Given the description of an element on the screen output the (x, y) to click on. 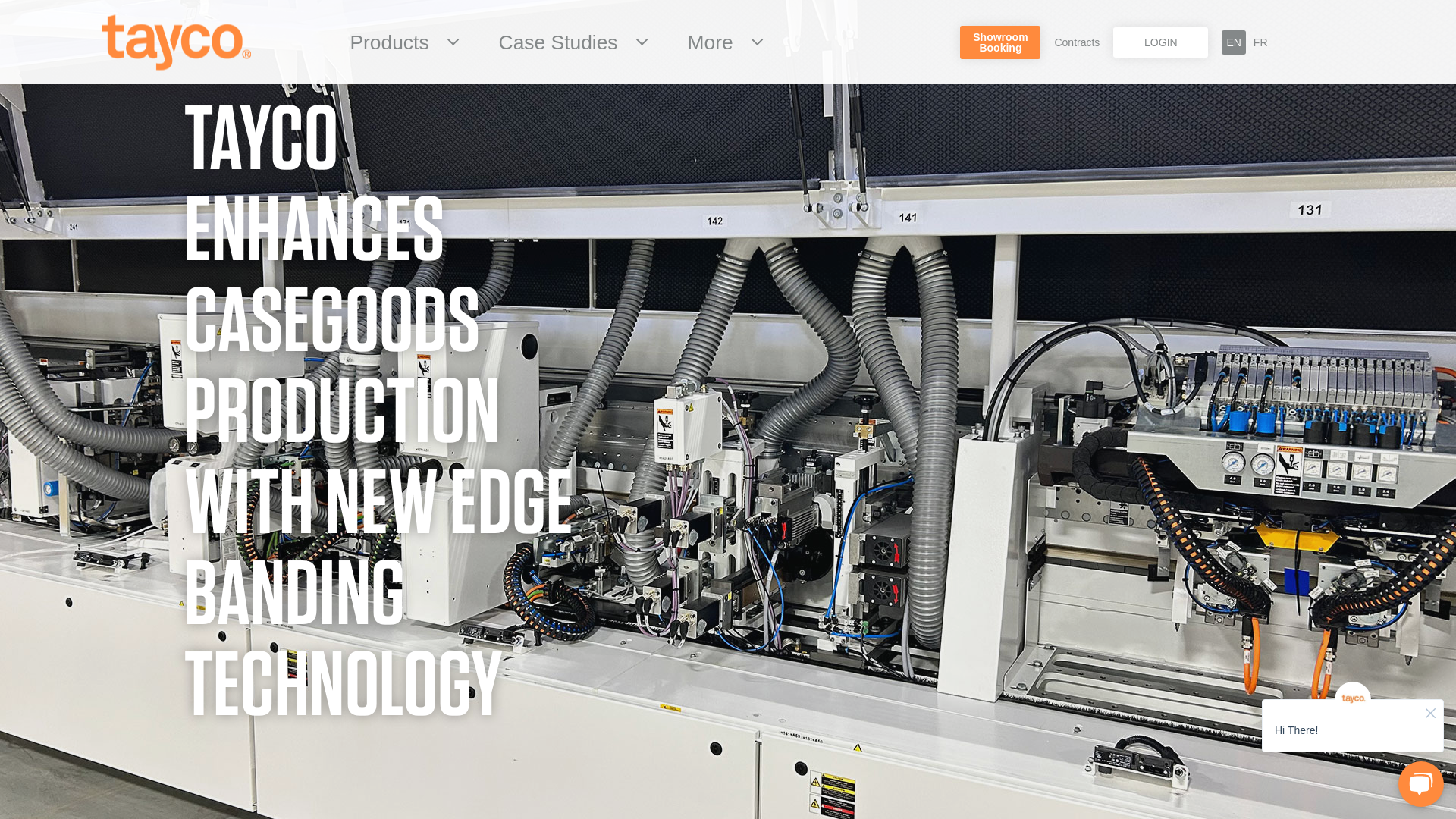
LOGIN (1160, 42)
FR (1260, 42)
Case Studies (563, 42)
Contracts (1076, 42)
Products (392, 42)
EN (1232, 42)
Showroom Booking (715, 42)
Tayco Home (1000, 41)
